Given the description of an element on the screen output the (x, y) to click on. 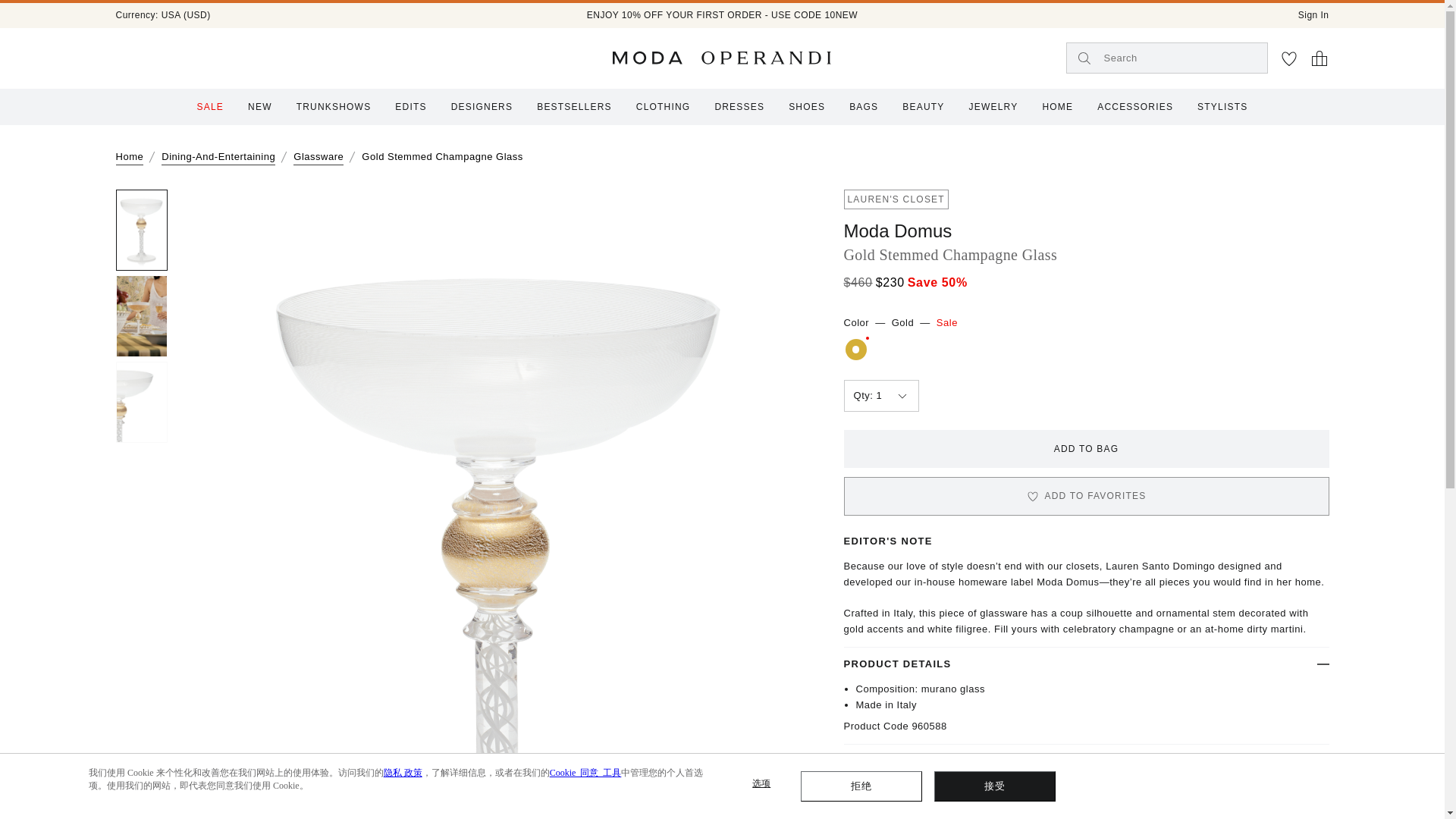
gold (855, 349)
Sign In (1313, 15)
Select (880, 395)
SALE (209, 106)
